Given the description of an element on the screen output the (x, y) to click on. 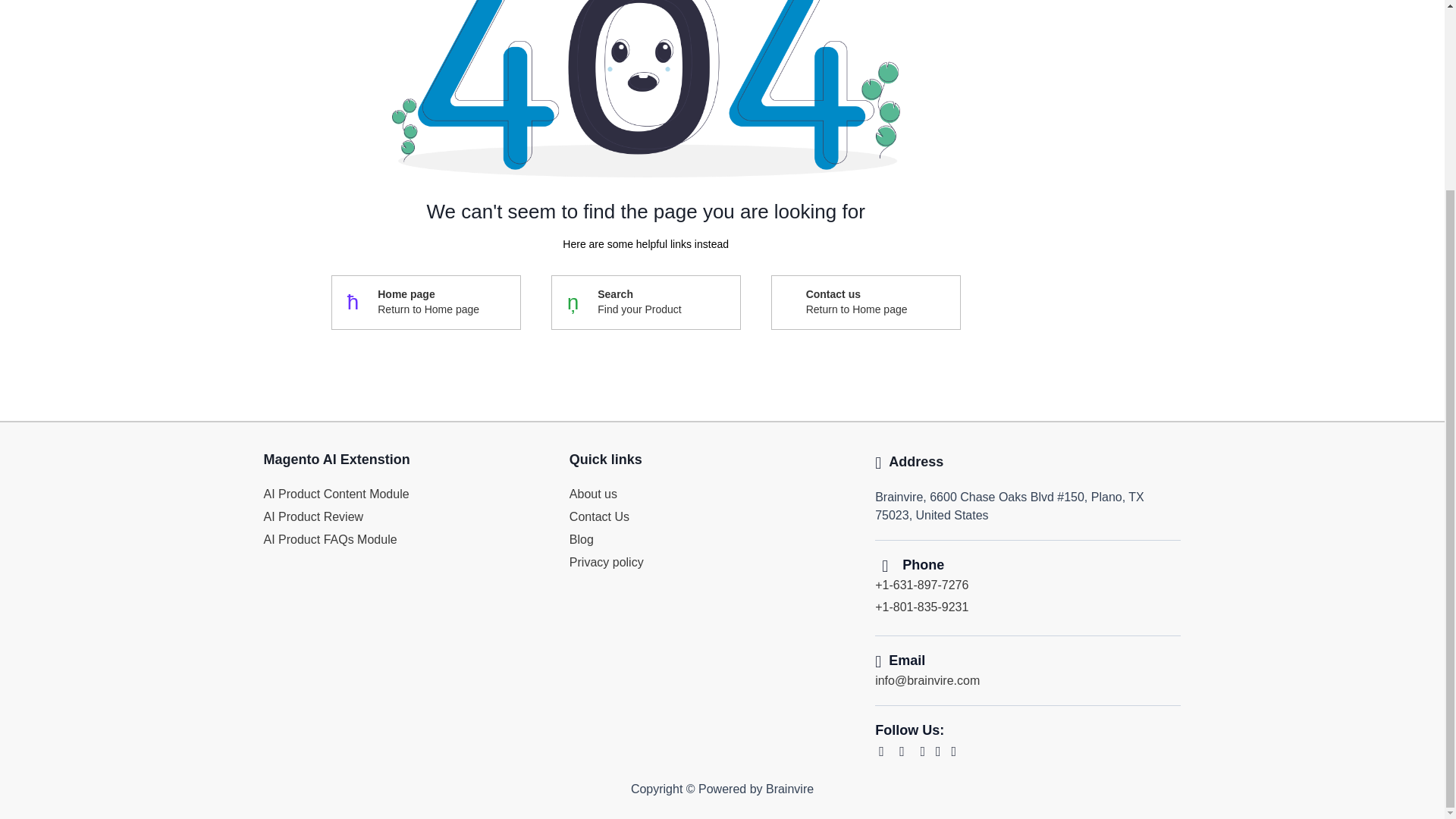
AI Product FAQs Module (428, 302)
Contact Us (330, 539)
Blog (598, 516)
AI Product Content Module (581, 539)
AI Product Review (856, 302)
Privacy policy (336, 493)
About us (638, 302)
